Given the description of an element on the screen output the (x, y) to click on. 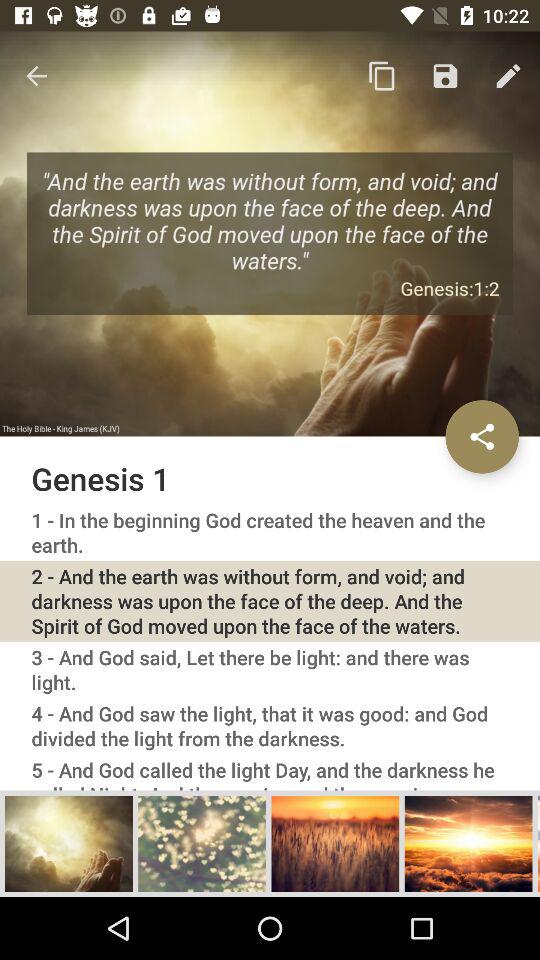
enlarge image (202, 843)
